Given the description of an element on the screen output the (x, y) to click on. 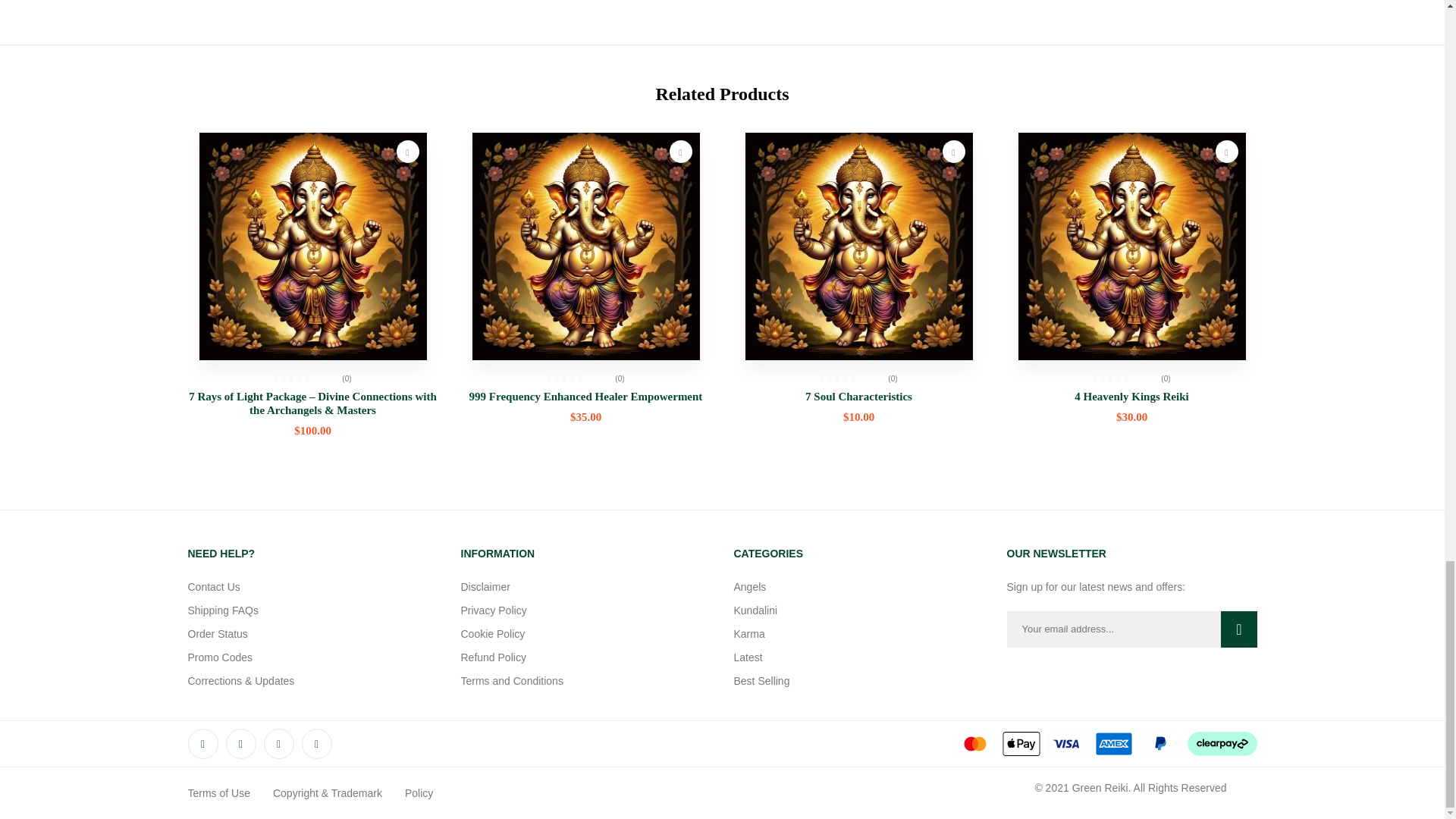
SUBSCRIBE (1234, 628)
